Given the description of an element on the screen output the (x, y) to click on. 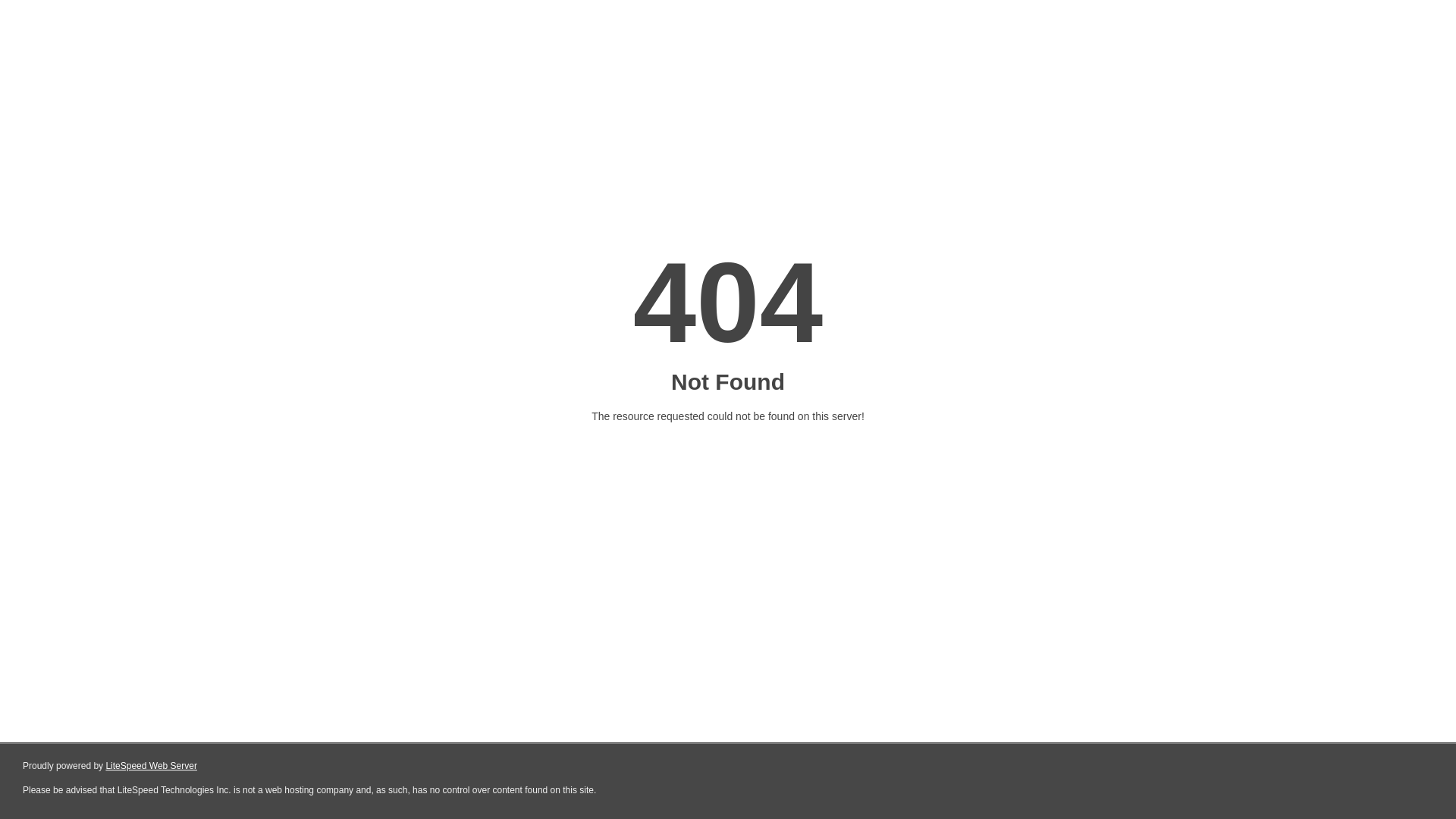
LiteSpeed Web Server Element type: text (151, 765)
